Given the description of an element on the screen output the (x, y) to click on. 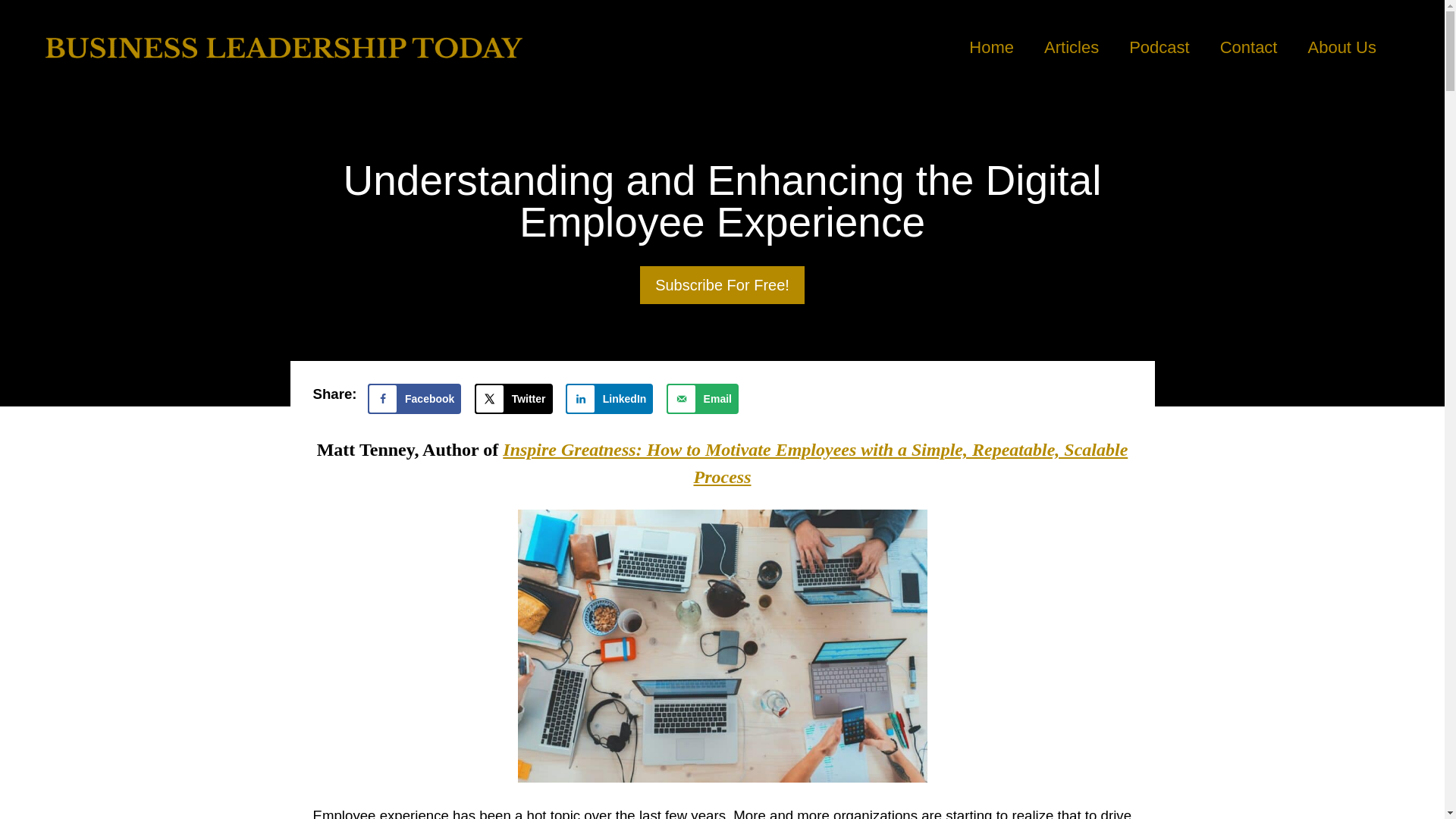
Articles (1071, 47)
Subscribe For Free! (722, 284)
Share on Facebook (414, 399)
LinkedIn (609, 399)
Podcast (1159, 47)
About Us (1345, 47)
Twitter (513, 399)
Send over email (702, 399)
Share on X (513, 399)
